Given the description of an element on the screen output the (x, y) to click on. 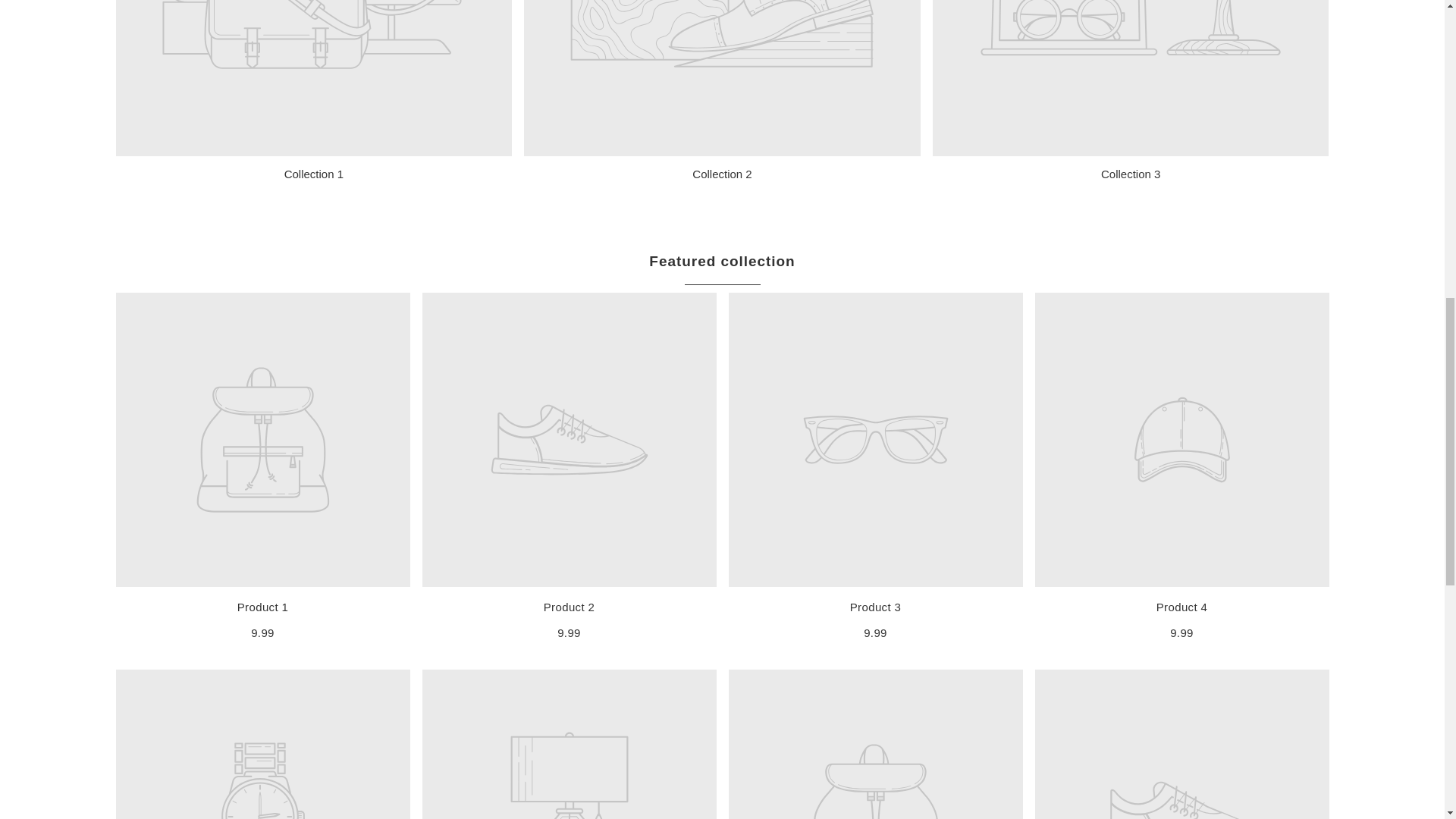
Collection (722, 173)
Collection (313, 173)
Collection image (313, 78)
Sample product (569, 607)
Collection image (1131, 78)
Sample product (262, 607)
Sample product (875, 607)
Sample product (1180, 607)
Collection (1130, 173)
Collection image (722, 78)
